Given the description of an element on the screen output the (x, y) to click on. 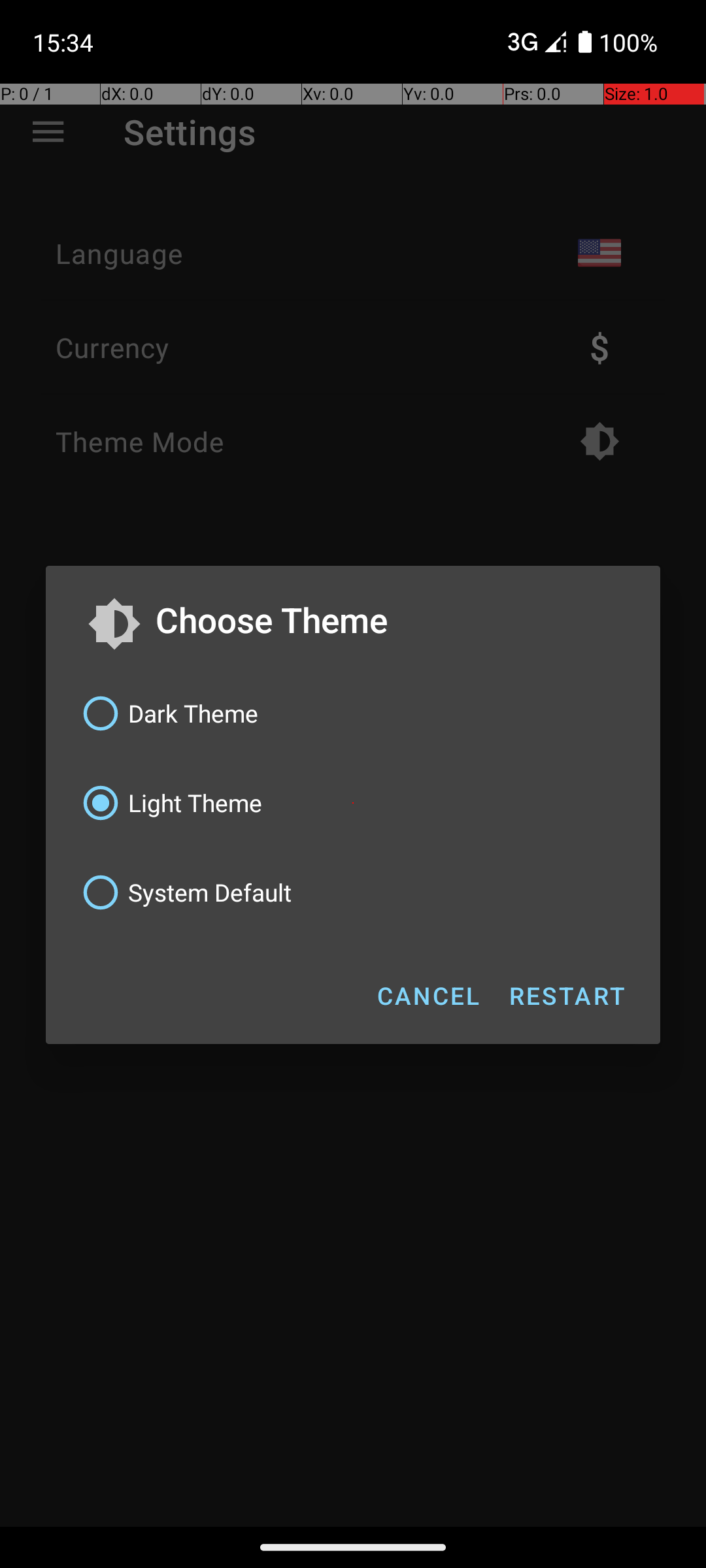
Choose Theme Element type: android.widget.TextView (387, 619)
Dark Theme Element type: android.widget.RadioButton (352, 713)
Light Theme Element type: android.widget.RadioButton (352, 802)
System Default Element type: android.widget.RadioButton (352, 892)
RESTART Element type: android.widget.Button (566, 995)
